Given the description of an element on the screen output the (x, y) to click on. 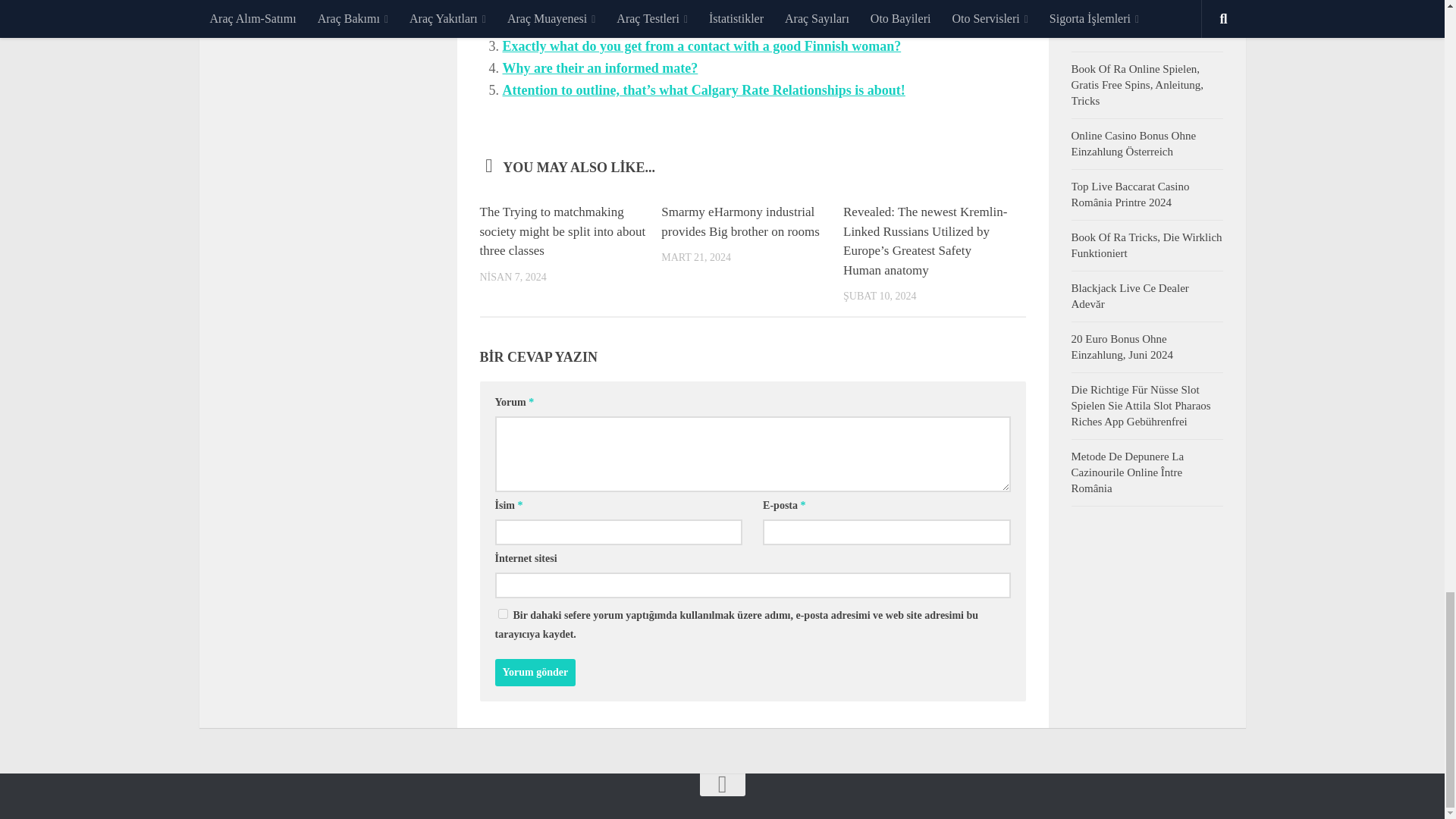
Why are their an informed mate? (599, 68)
yes (501, 614)
